Given the description of an element on the screen output the (x, y) to click on. 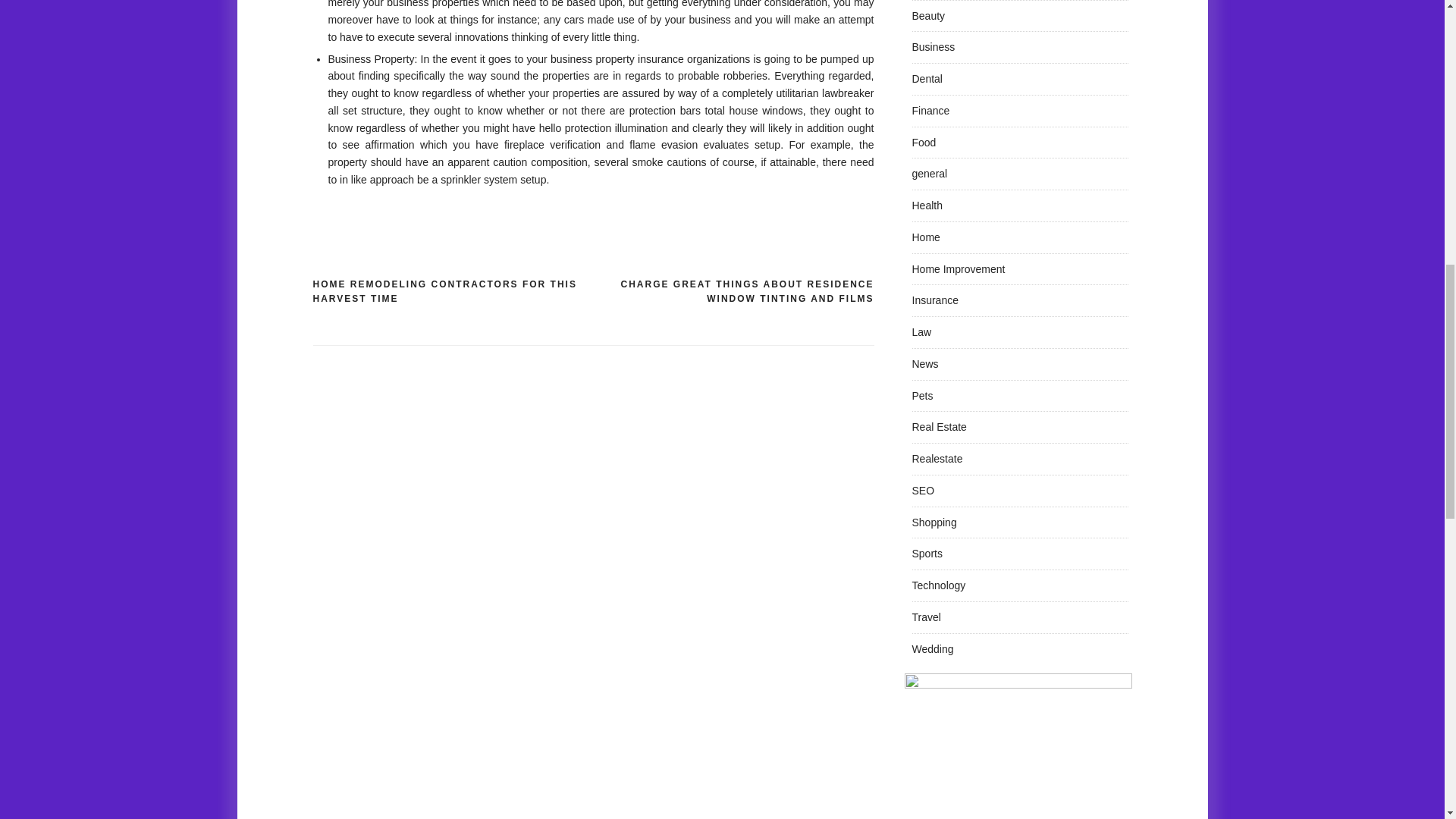
Business (933, 46)
Real Estate (938, 426)
general (929, 173)
Health (926, 205)
Shopping (933, 522)
Insurance (934, 300)
Realestate (936, 458)
Food (923, 142)
Dental (926, 78)
Sports (926, 553)
